Given the description of an element on the screen output the (x, y) to click on. 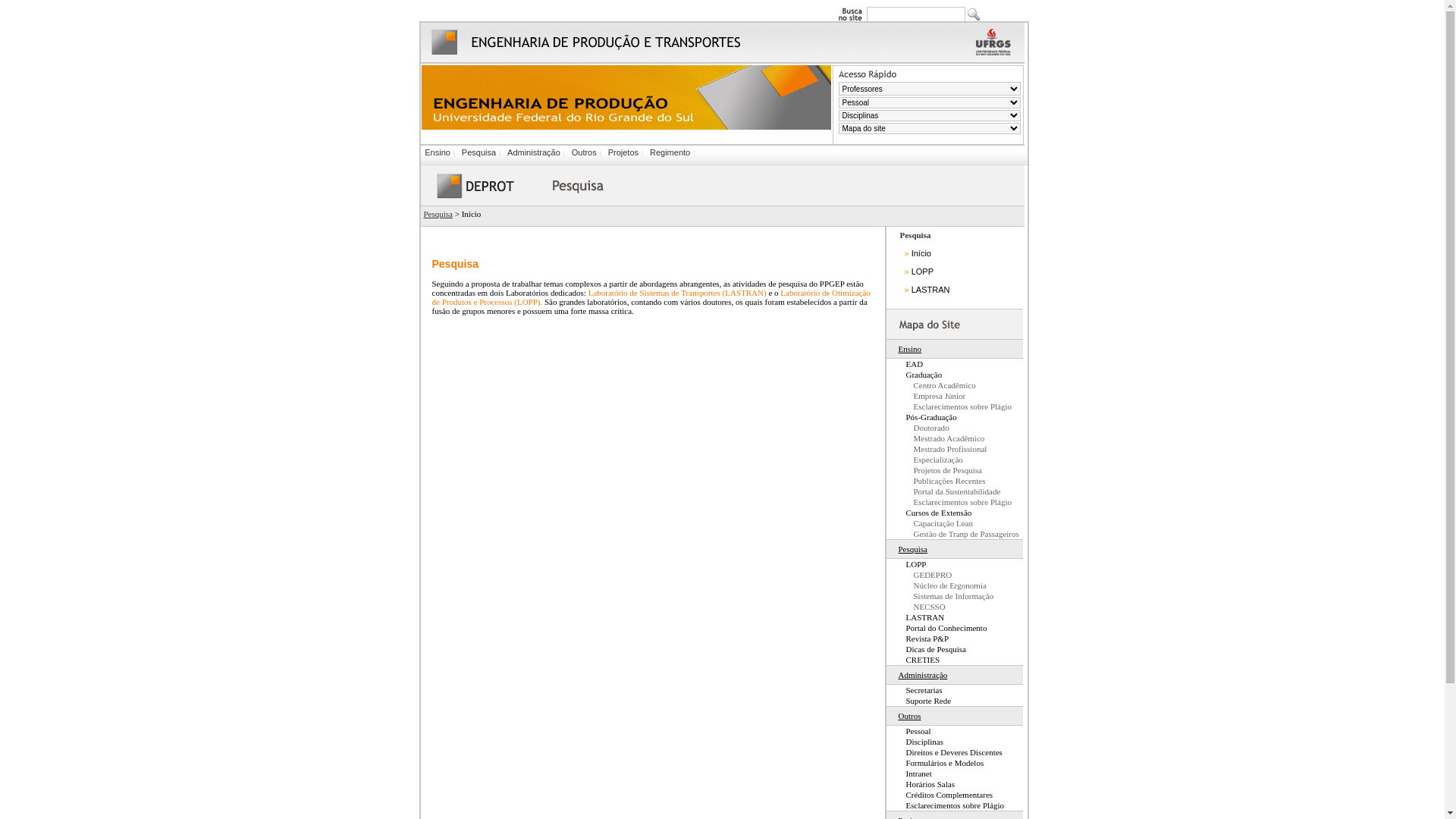
Pesquisa Element type: text (437, 213)
Outros Element type: text (583, 151)
GEDEPRO Element type: text (919, 574)
Revista P&P Element type: text (918, 638)
Dicas de Pesquisa Element type: text (926, 648)
Mestrado Profissional Element type: text (937, 448)
Intranet Element type: text (909, 773)
Pessoal Element type: text (909, 730)
Portal da Sustentabilidade Element type: text (944, 490)
Disciplinas Element type: text (915, 741)
Ensino Element type: text (437, 151)
Regimento Element type: text (669, 151)
Ensino Element type: text (904, 348)
Secretarias Element type: text (914, 689)
EAD Element type: text (905, 363)
NECSSO Element type: text (916, 606)
Pesquisa Element type: text (478, 151)
Portal do Conhecimento Element type: text (937, 627)
Doutorado Element type: text (918, 427)
Projetos Element type: text (623, 151)
LOPP Element type: text (906, 563)
CRETIES Element type: text (913, 659)
Projetos de Pesquisa Element type: text (934, 469)
LASTRAN Element type: text (915, 616)
Suporte Rede Element type: text (919, 700)
Direitos e Deveres Discentes Element type: text (944, 751)
Pesquisa Element type: text (907, 548)
